Given the description of an element on the screen output the (x, y) to click on. 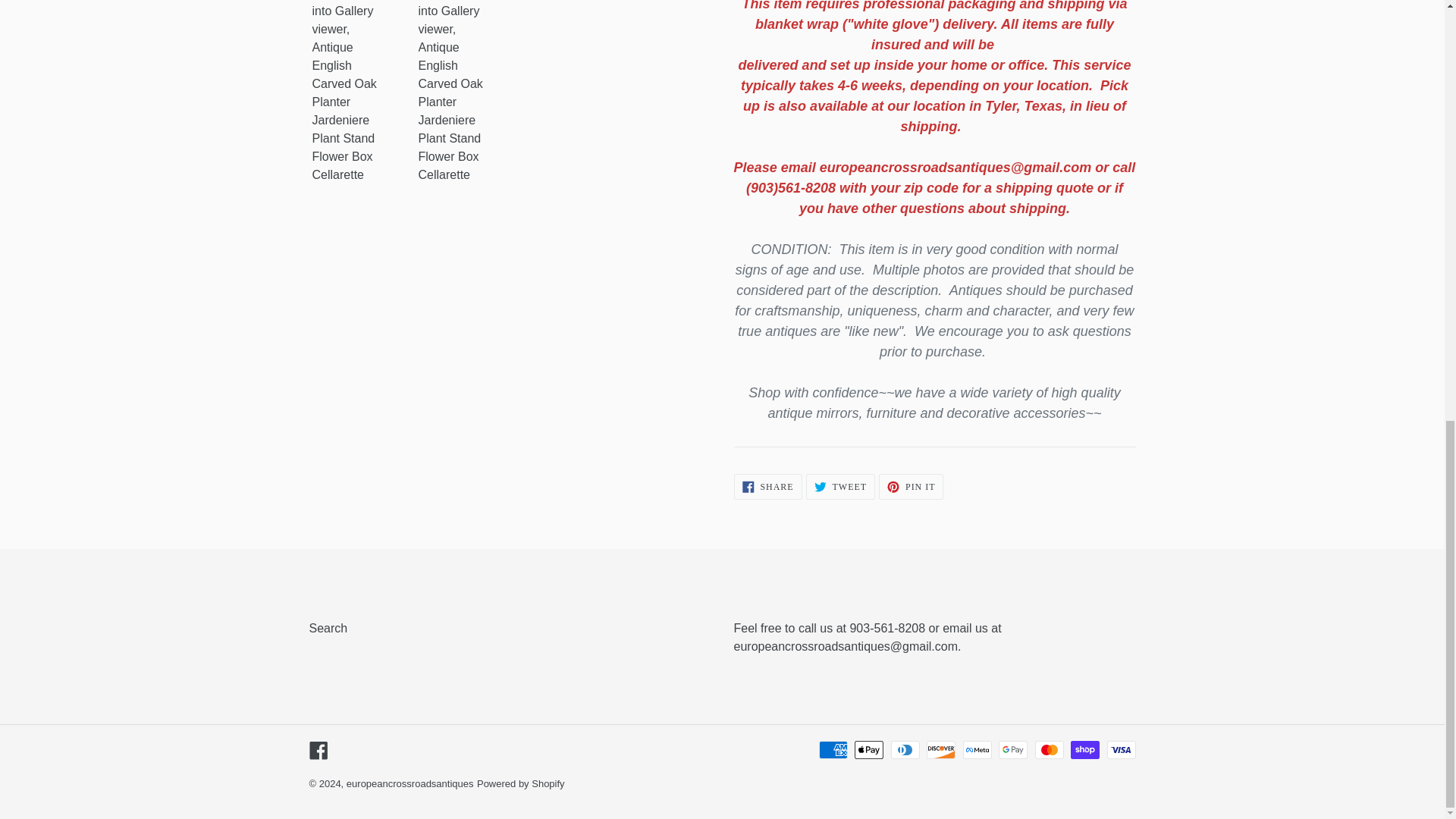
Powered by Shopify (520, 783)
Facebook (911, 486)
Search (318, 749)
europeancrossroadsantiques (840, 486)
